Given the description of an element on the screen output the (x, y) to click on. 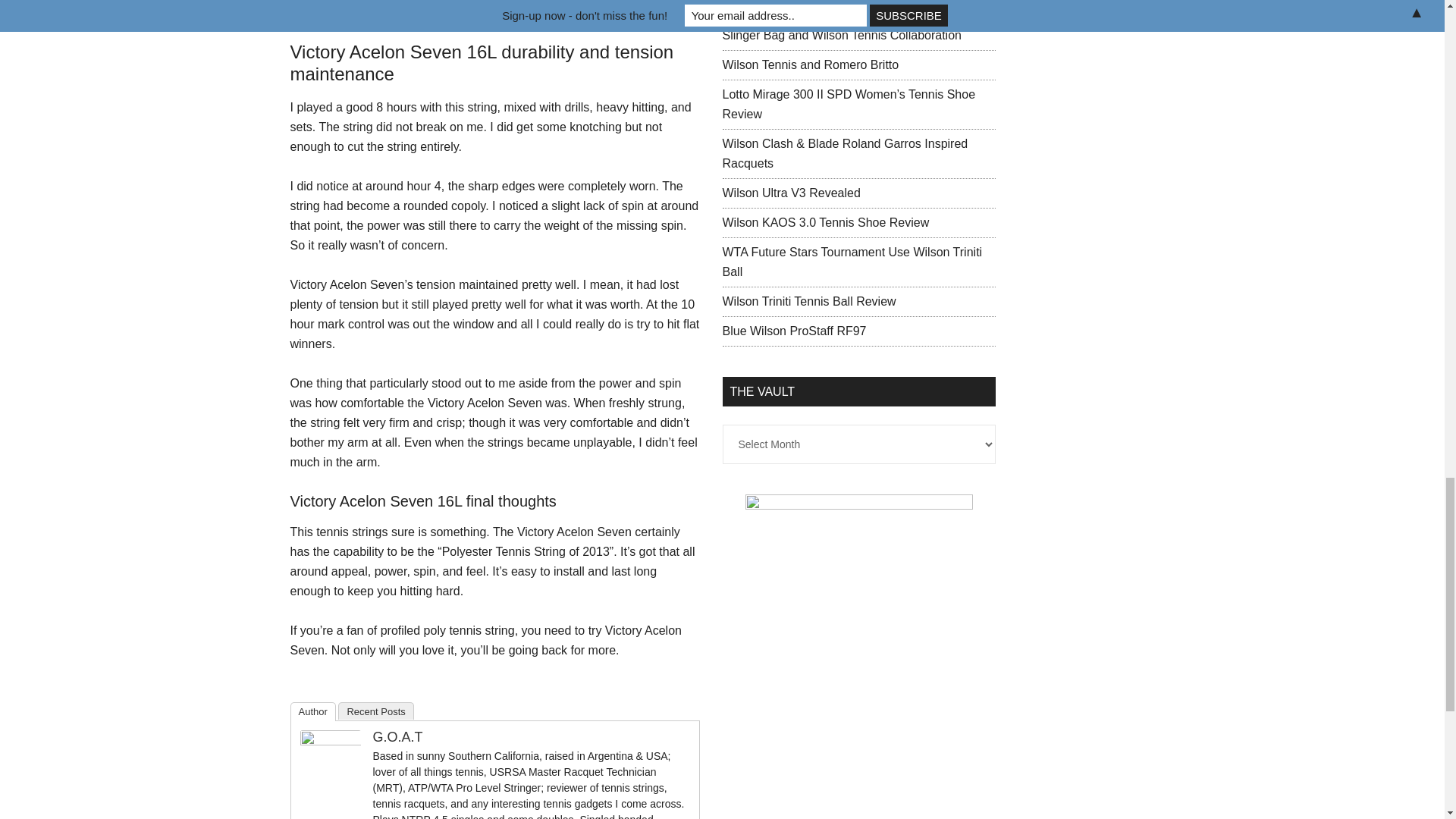
Author (311, 711)
G.O.A.T (397, 736)
Recent Posts (375, 710)
